Given the description of an element on the screen output the (x, y) to click on. 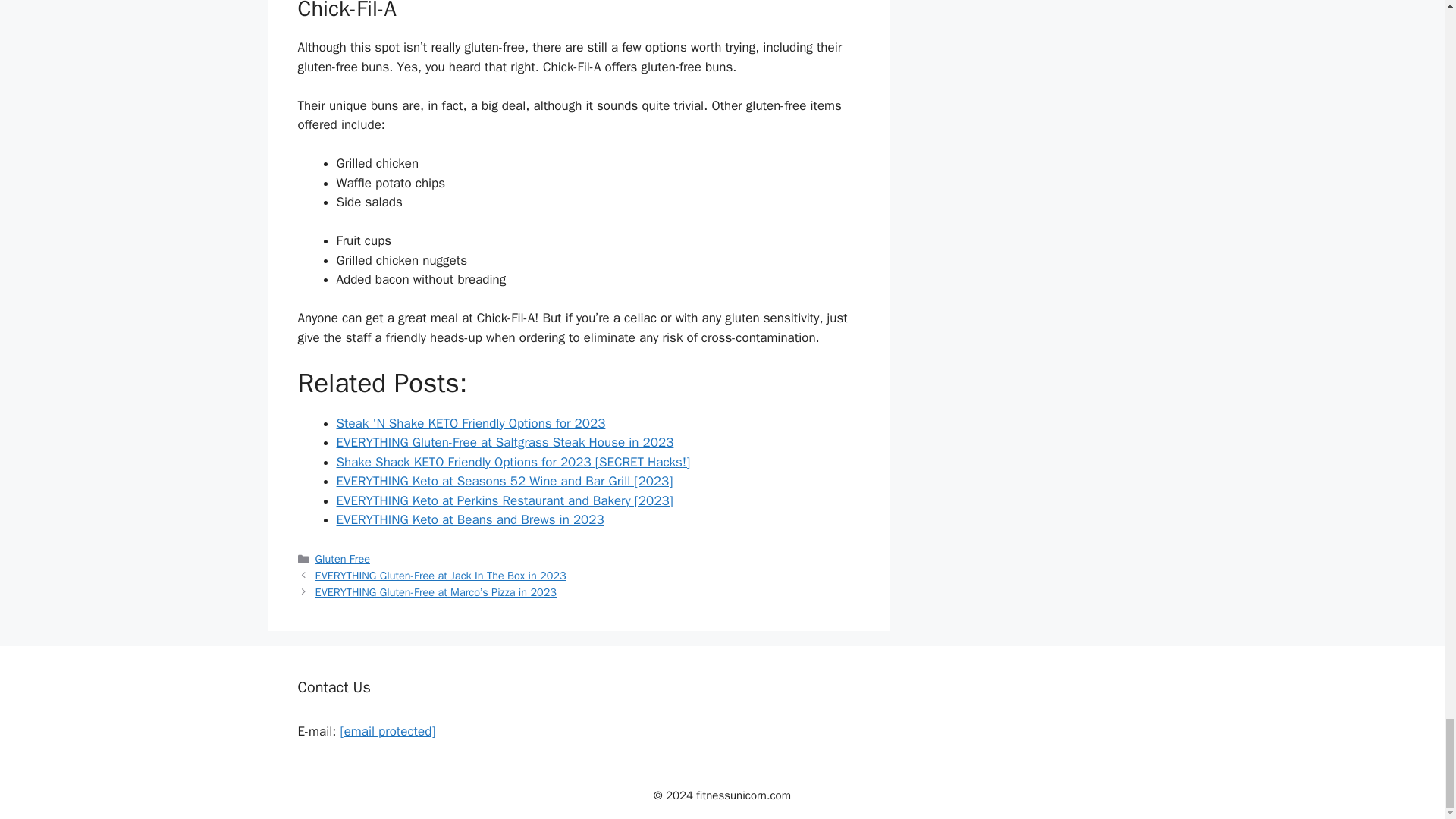
EVERYTHING Gluten-Free at Jack In The Box in 2023 (440, 575)
EVERYTHING Gluten-Free at Saltgrass Steak House in 2023 (505, 442)
Steak 'N Shake KETO Friendly Options for 2023 (470, 423)
Gluten Free (342, 558)
EVERYTHING Keto at Beans and Brews in 2023 (470, 519)
